Given the description of an element on the screen output the (x, y) to click on. 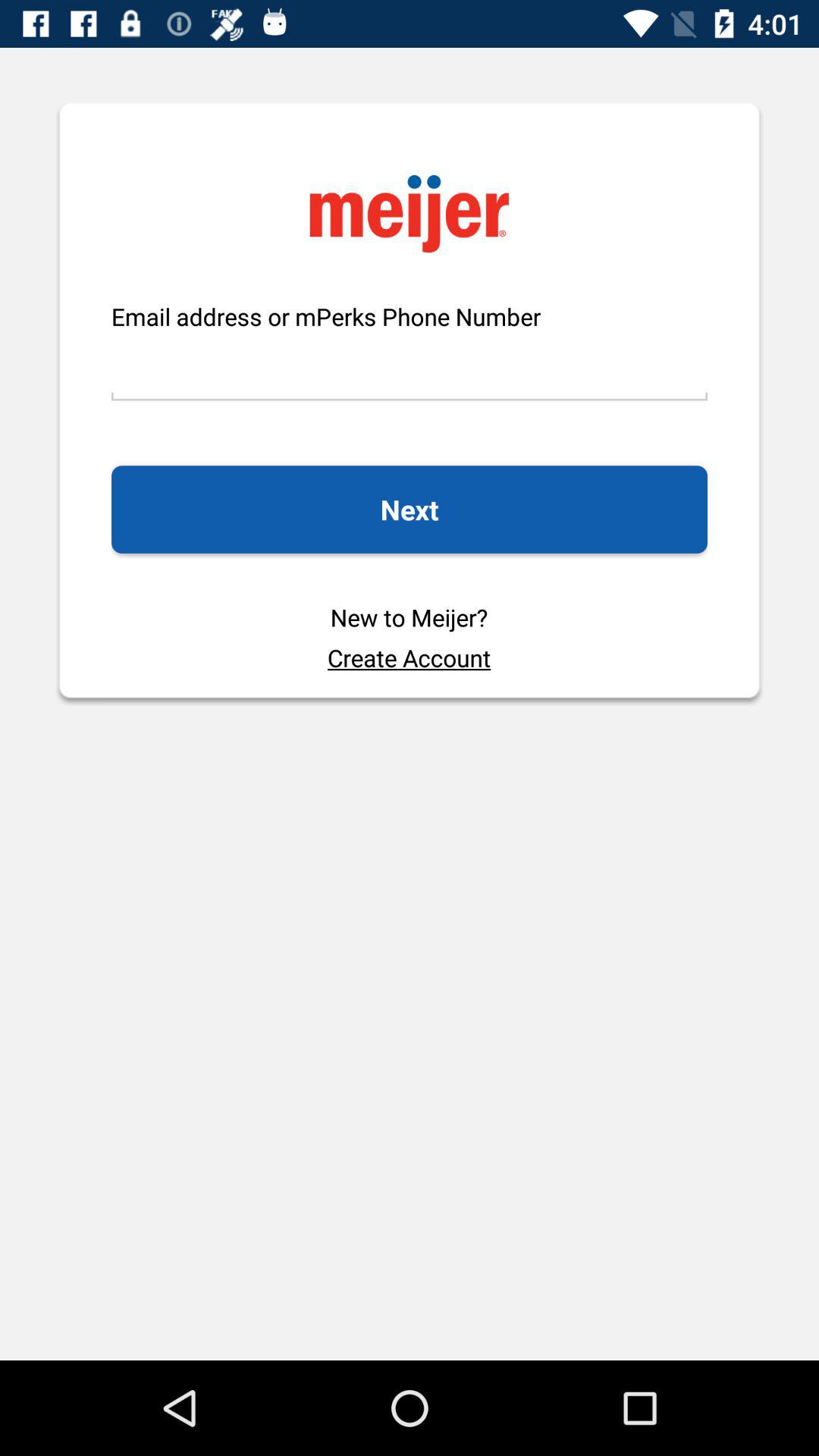
tap next (409, 509)
